Given the description of an element on the screen output the (x, y) to click on. 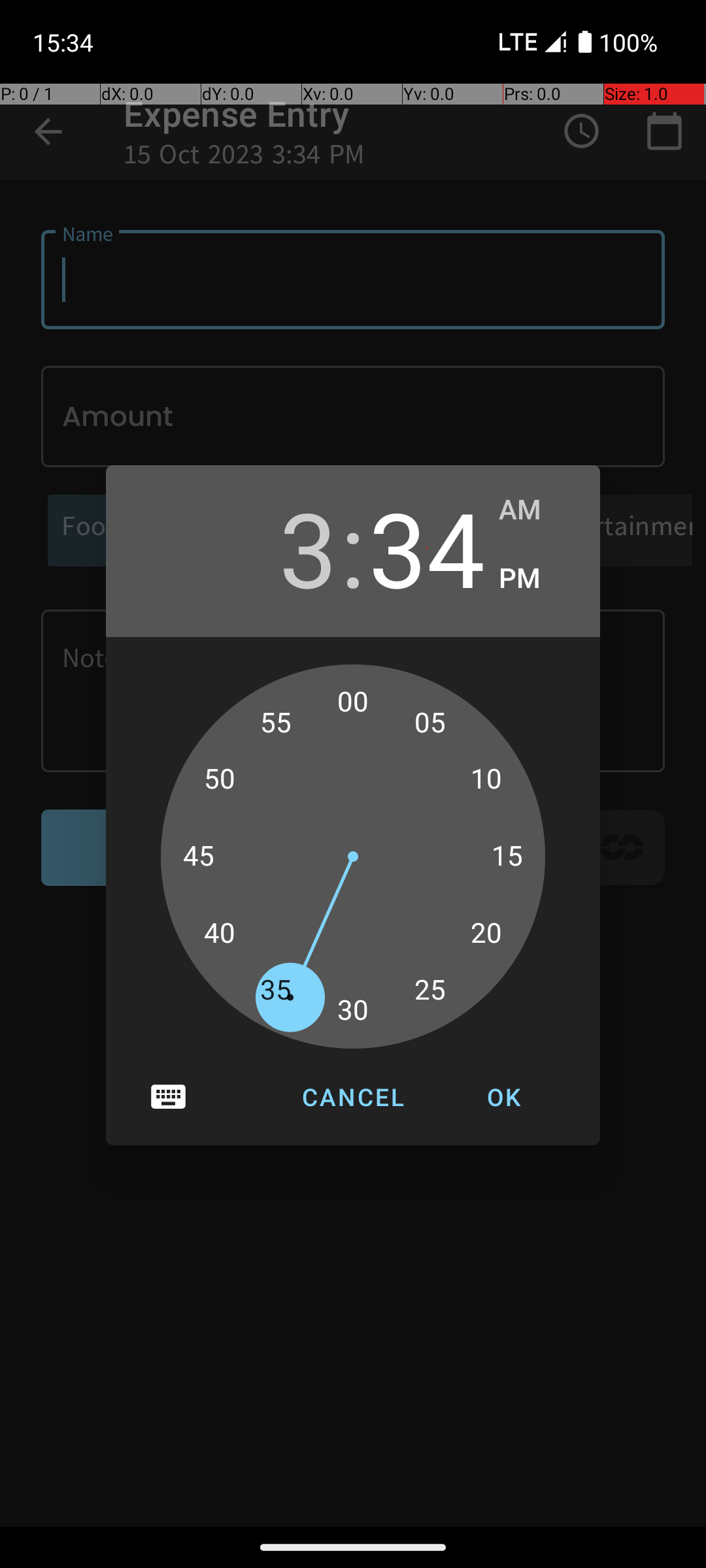
34 Element type: android.widget.TextView (426, 547)
